Given the description of an element on the screen output the (x, y) to click on. 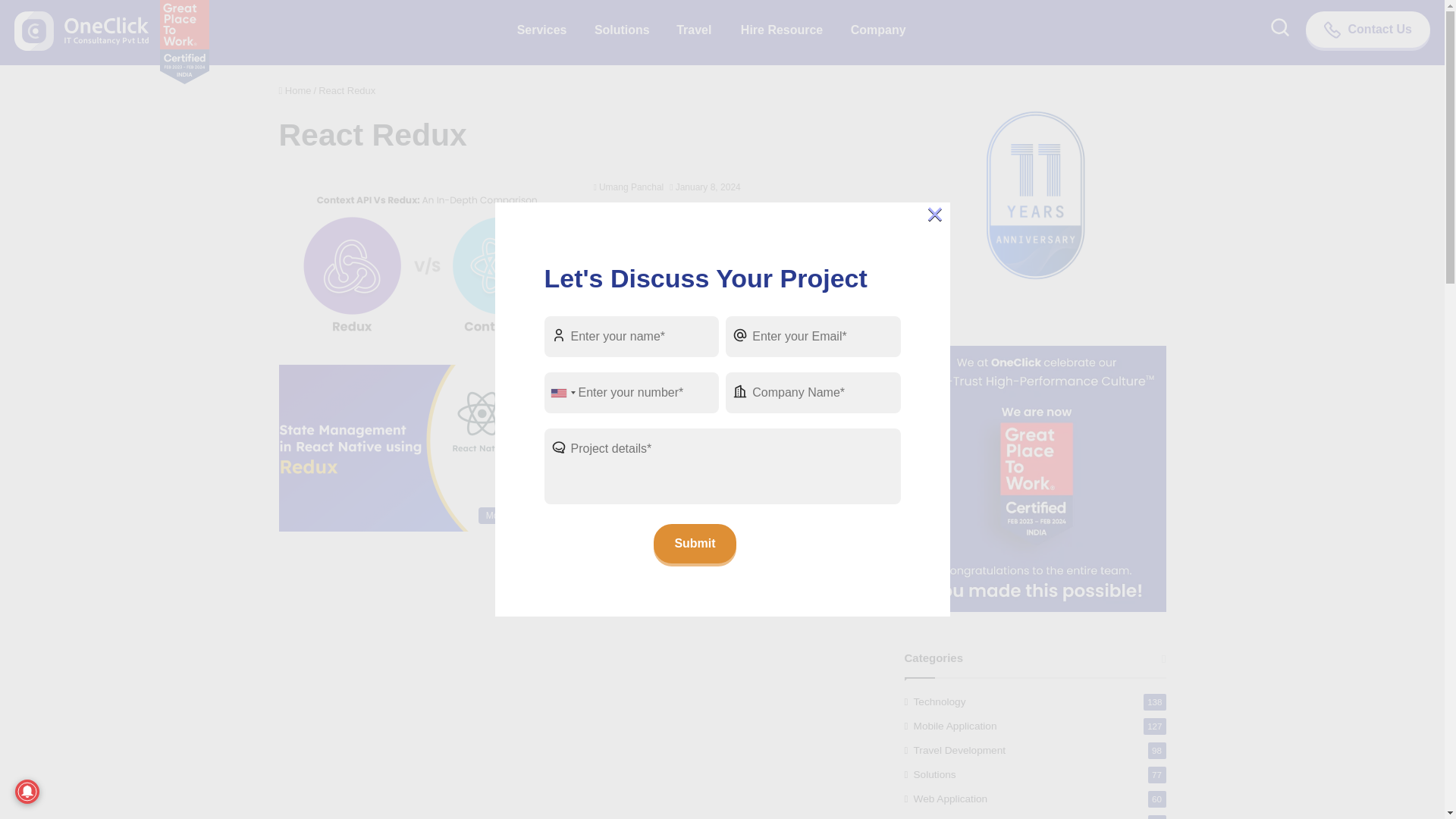
Solutions (621, 32)
Services (539, 32)
Shubham Parmar (630, 371)
Umang Panchal (627, 186)
Submit (694, 543)
